Given the description of an element on the screen output the (x, y) to click on. 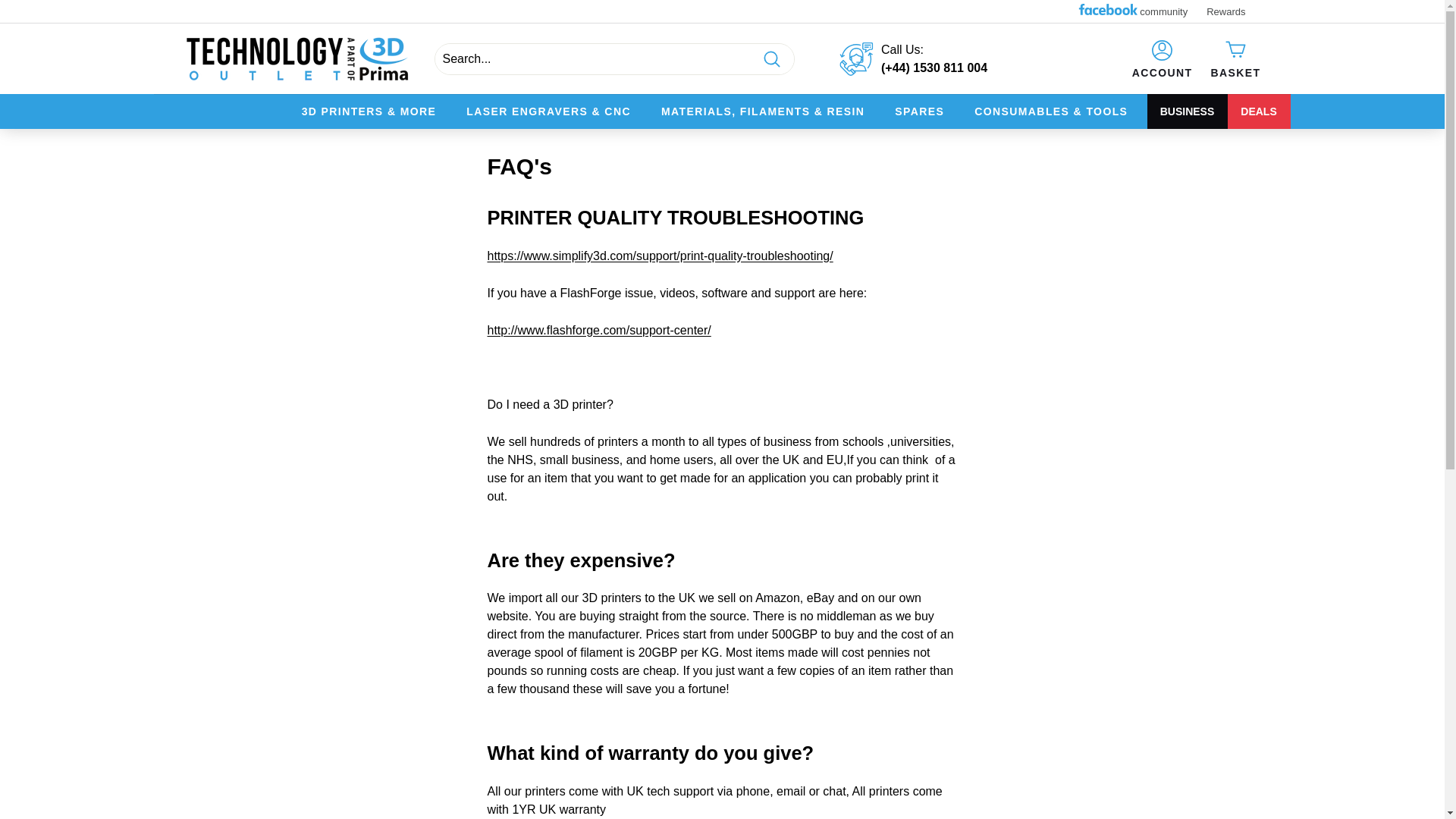
community (1139, 11)
Rewards (1231, 11)
ACCOUNT (1162, 58)
